Given the description of an element on the screen output the (x, y) to click on. 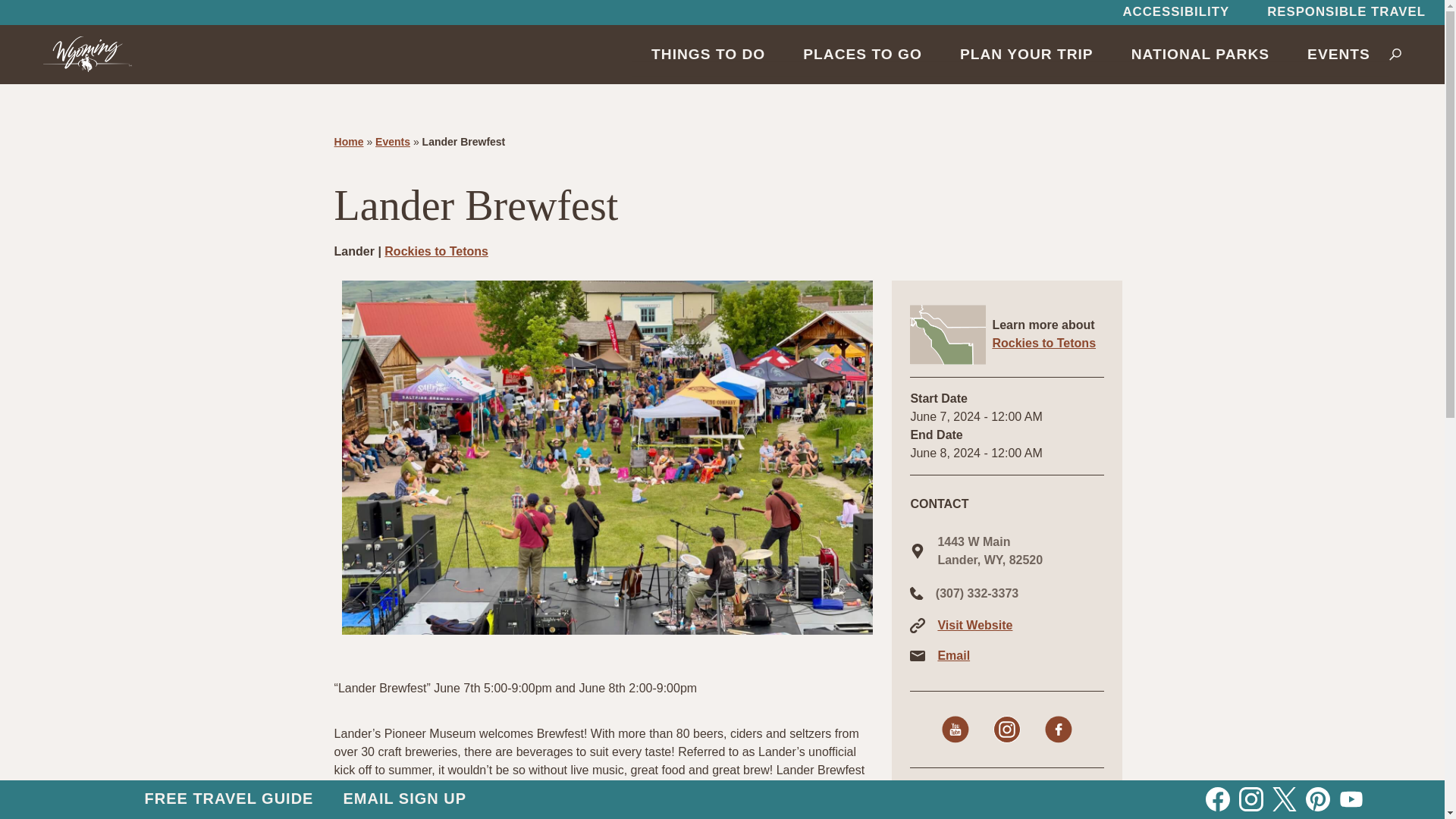
youtube (955, 728)
instagram (1006, 728)
THINGS TO DO (707, 53)
RESPONSIBLE TRAVEL (1345, 11)
ACCESSIBILITY (1175, 11)
NATIONAL PARKS (1200, 53)
EVENTS (1338, 53)
PLAN YOUR TRIP (1026, 53)
PLACES TO GO (862, 53)
facebook (1058, 728)
